Given the description of an element on the screen output the (x, y) to click on. 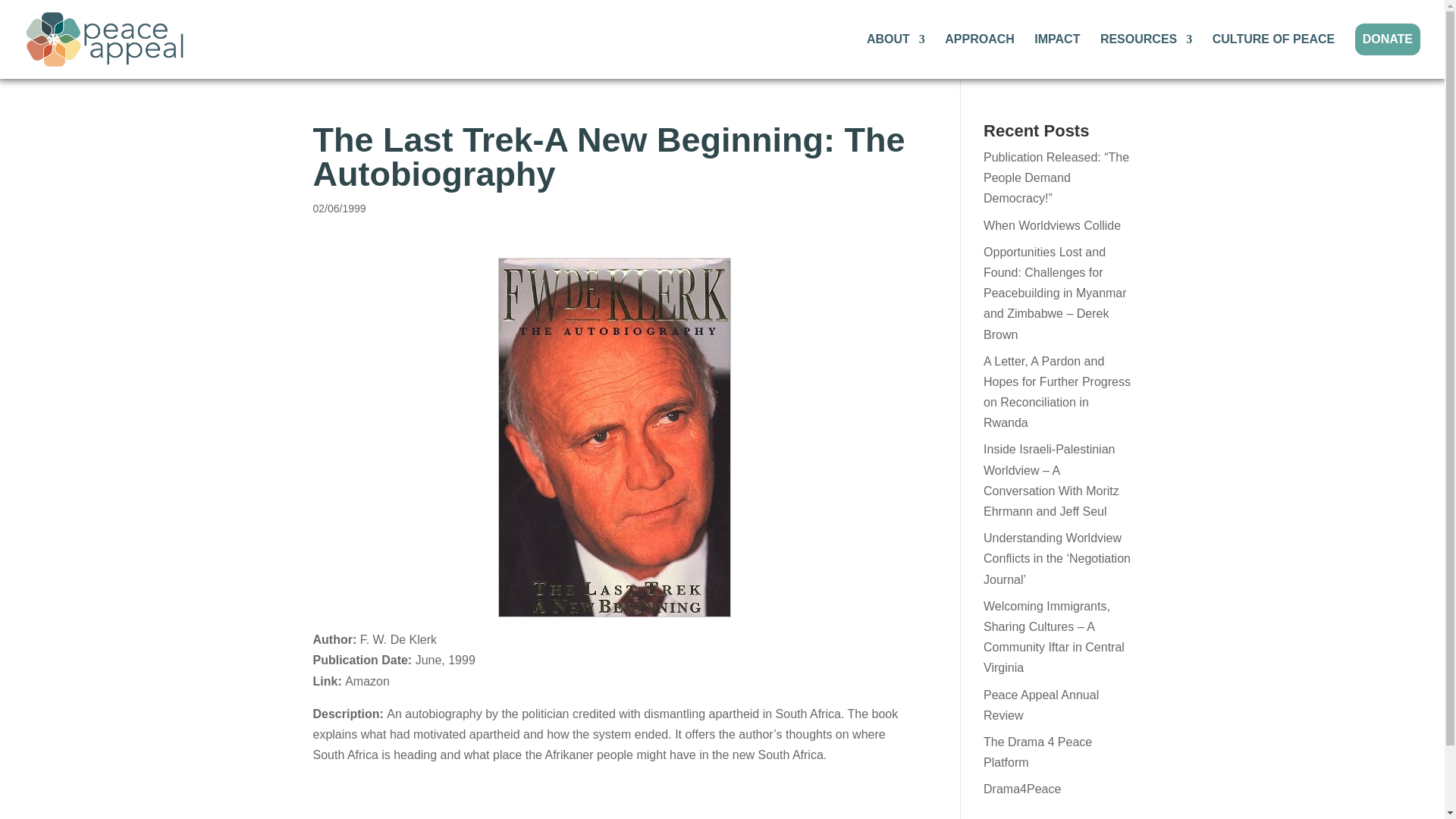
CULTURE OF PEACE (1273, 56)
Amazon (367, 680)
IMPACT (1056, 56)
When Worldviews Collide (1052, 225)
Drama4Peace (1022, 788)
ABOUT (895, 56)
Peace Appeal Annual Review (1041, 704)
DONATE (1388, 39)
APPROACH (979, 56)
